Given the description of an element on the screen output the (x, y) to click on. 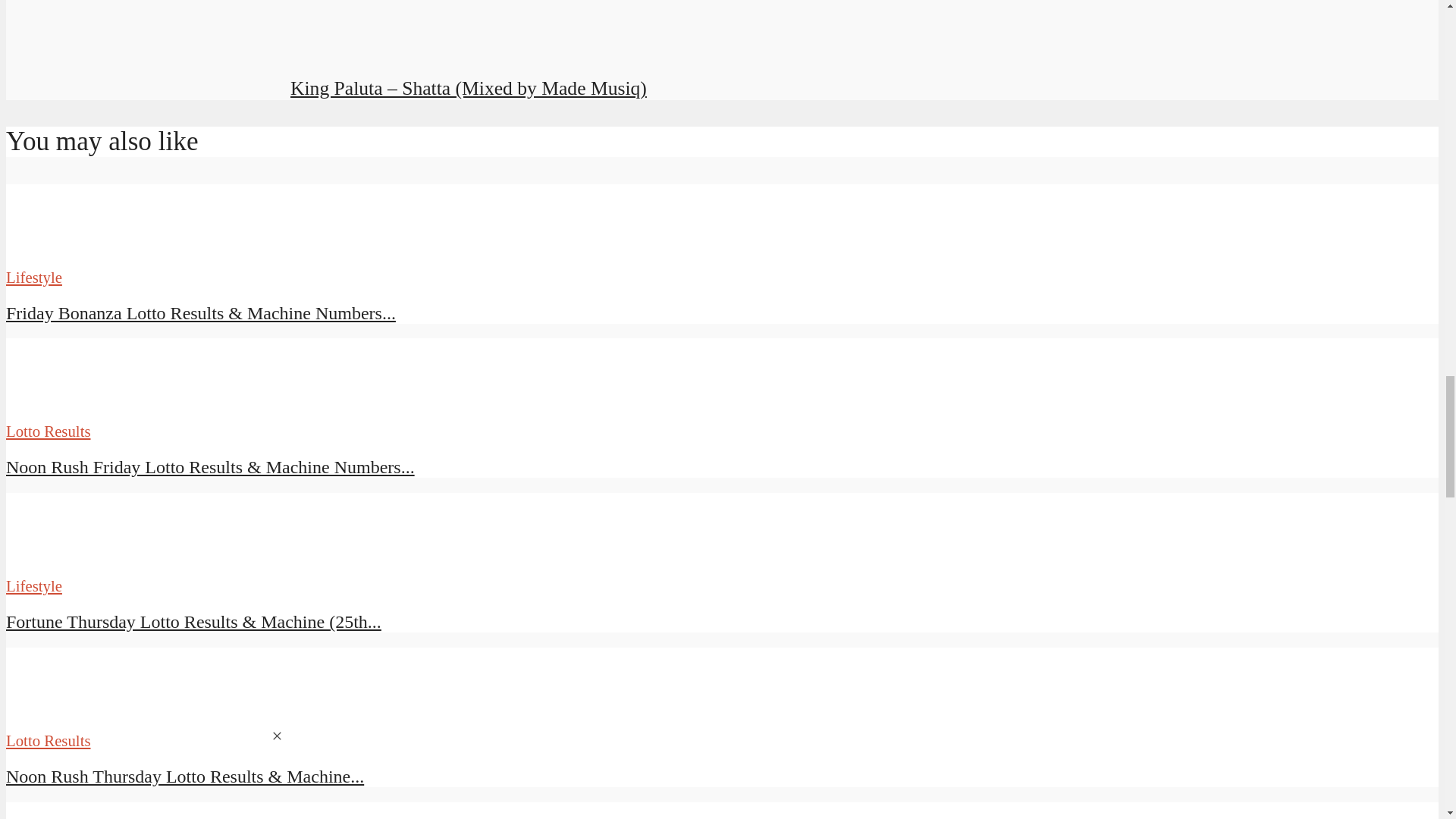
Lifestyle (33, 276)
Lifestyle (33, 585)
Lotto Results (47, 430)
